Given the description of an element on the screen output the (x, y) to click on. 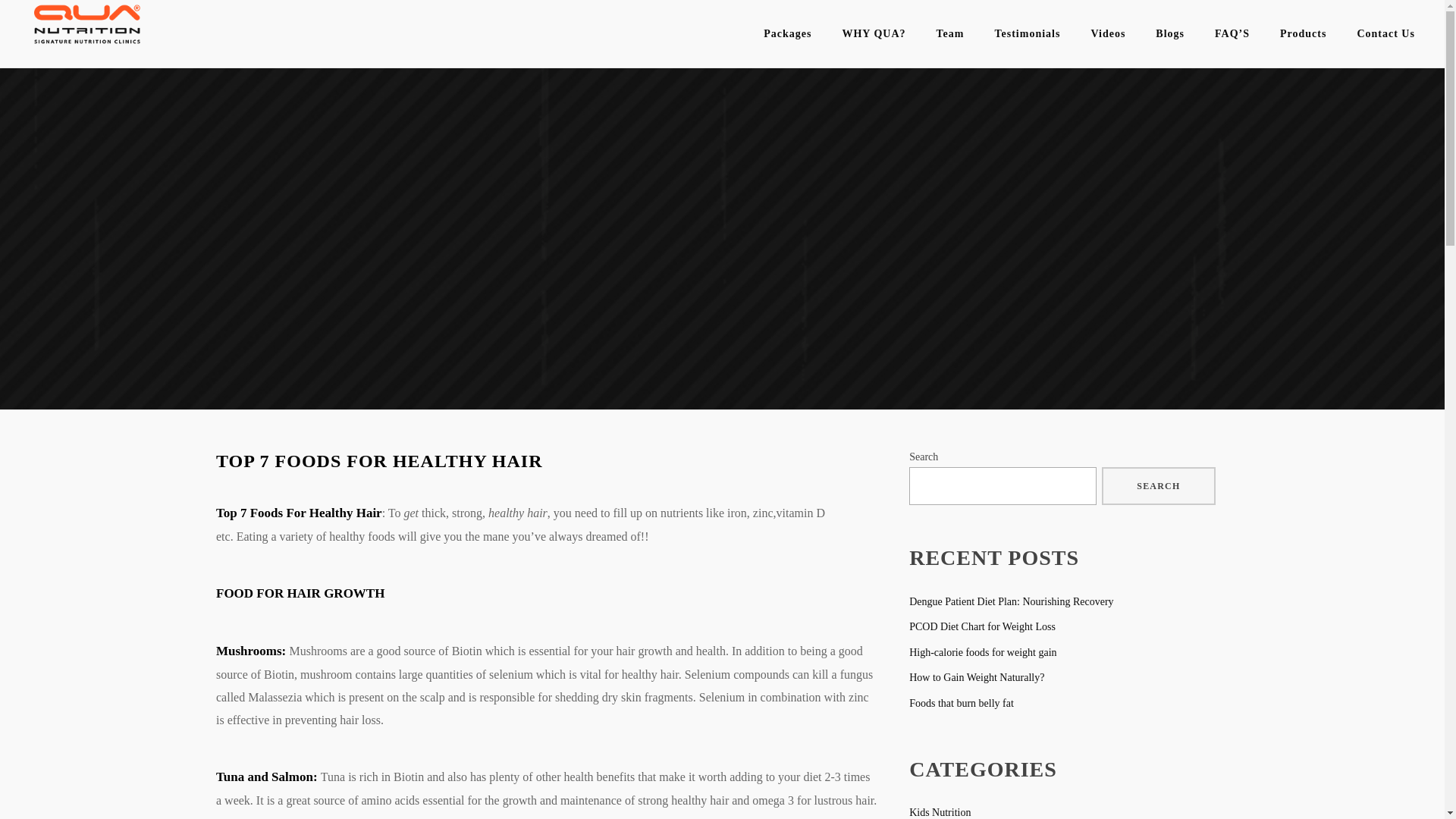
Videos (1107, 33)
Contact Us (1384, 33)
WHY QUA? (873, 33)
Testimonials (1026, 33)
Packages (787, 33)
Products (1302, 33)
